Given the description of an element on the screen output the (x, y) to click on. 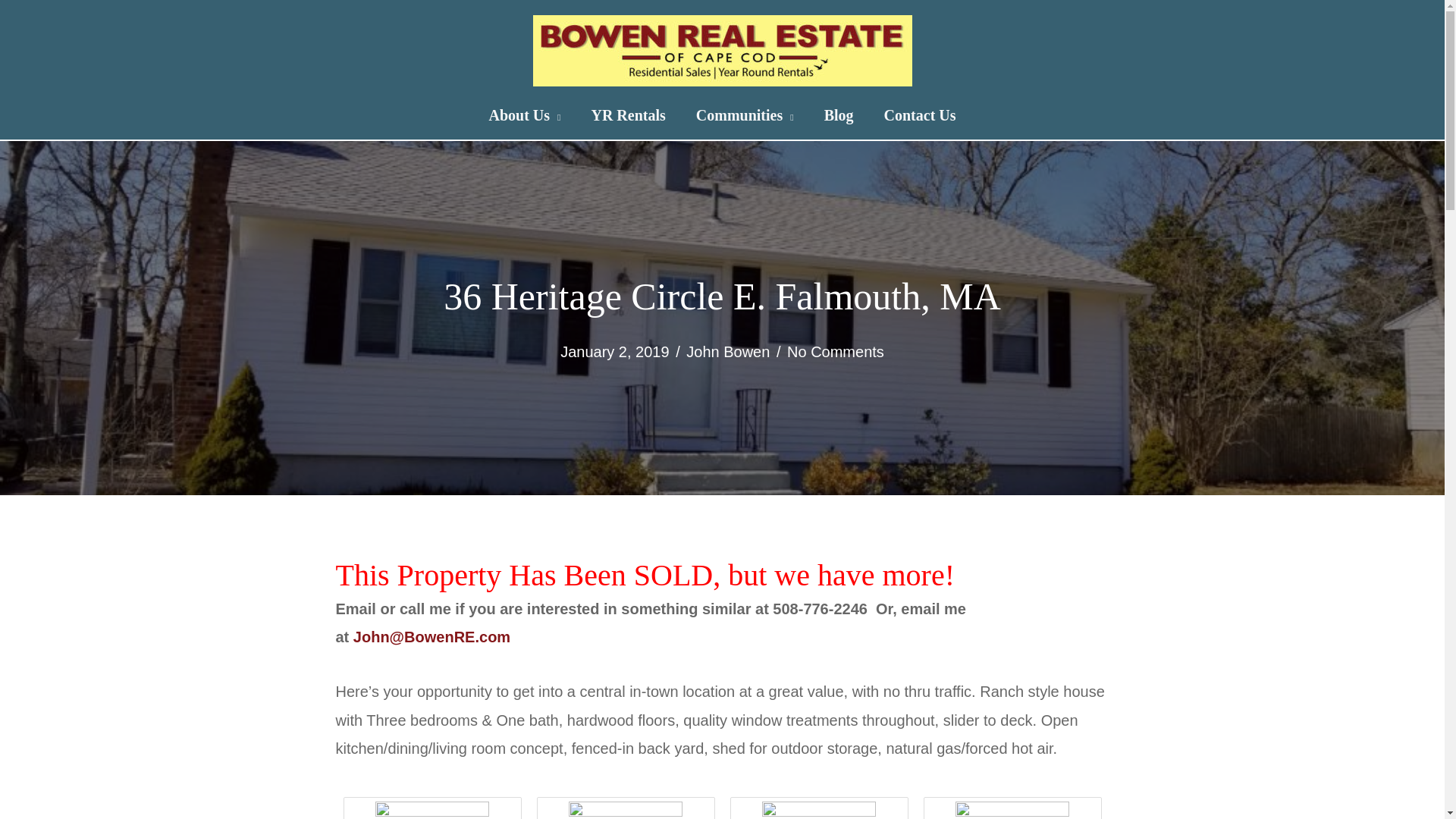
About Us (524, 115)
Blog (839, 115)
No Comments (835, 351)
John Bowen (727, 351)
Communities (745, 115)
Contact Us (920, 115)
YR Rentals (627, 115)
